Given the description of an element on the screen output the (x, y) to click on. 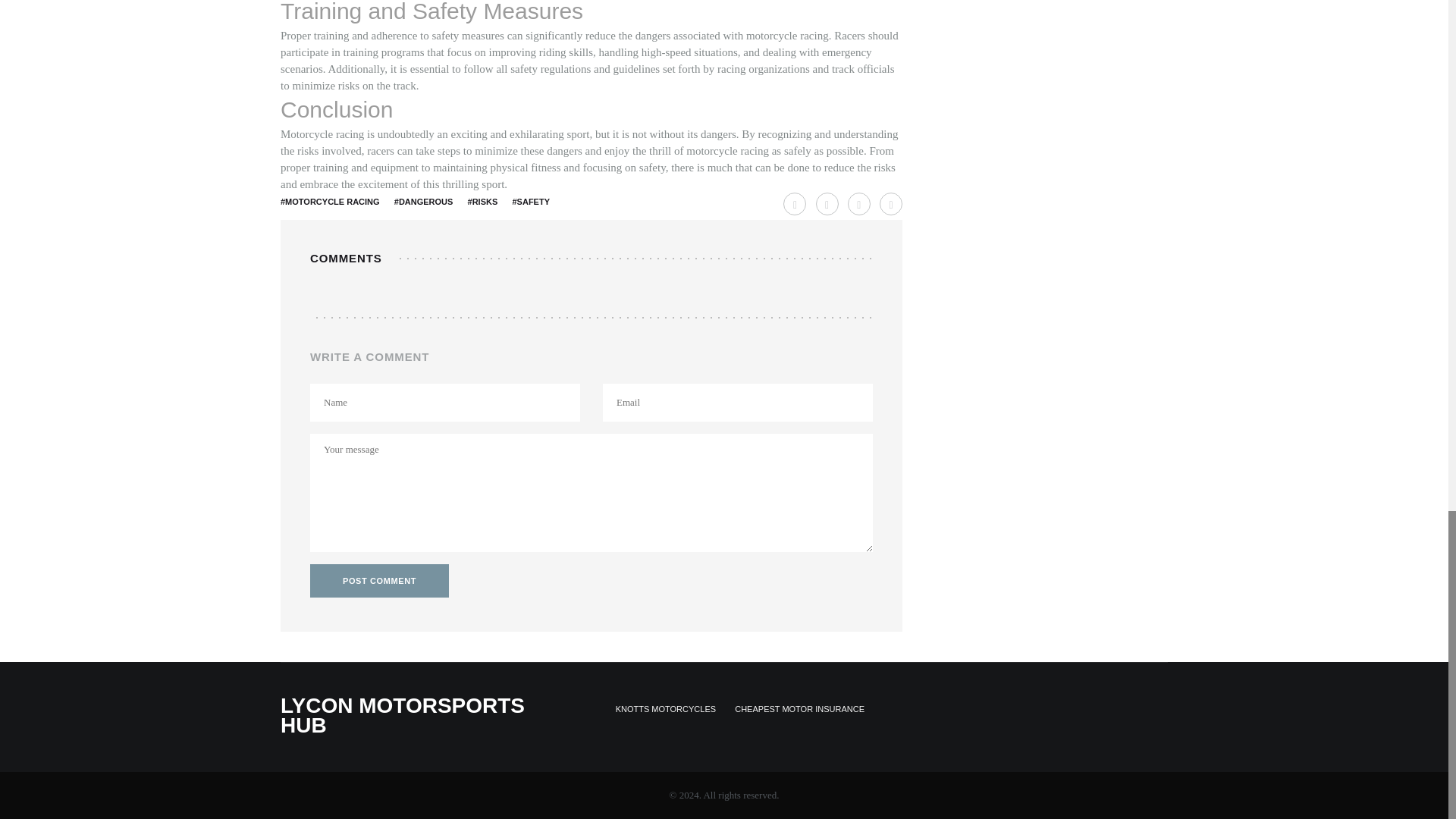
LYCON MOTORSPORTS HUB (402, 715)
CHEAPEST MOTOR INSURANCE (799, 709)
KNOTTS MOTORCYCLES (665, 709)
Post Comment (379, 580)
Post Comment (379, 580)
